Given the description of an element on the screen output the (x, y) to click on. 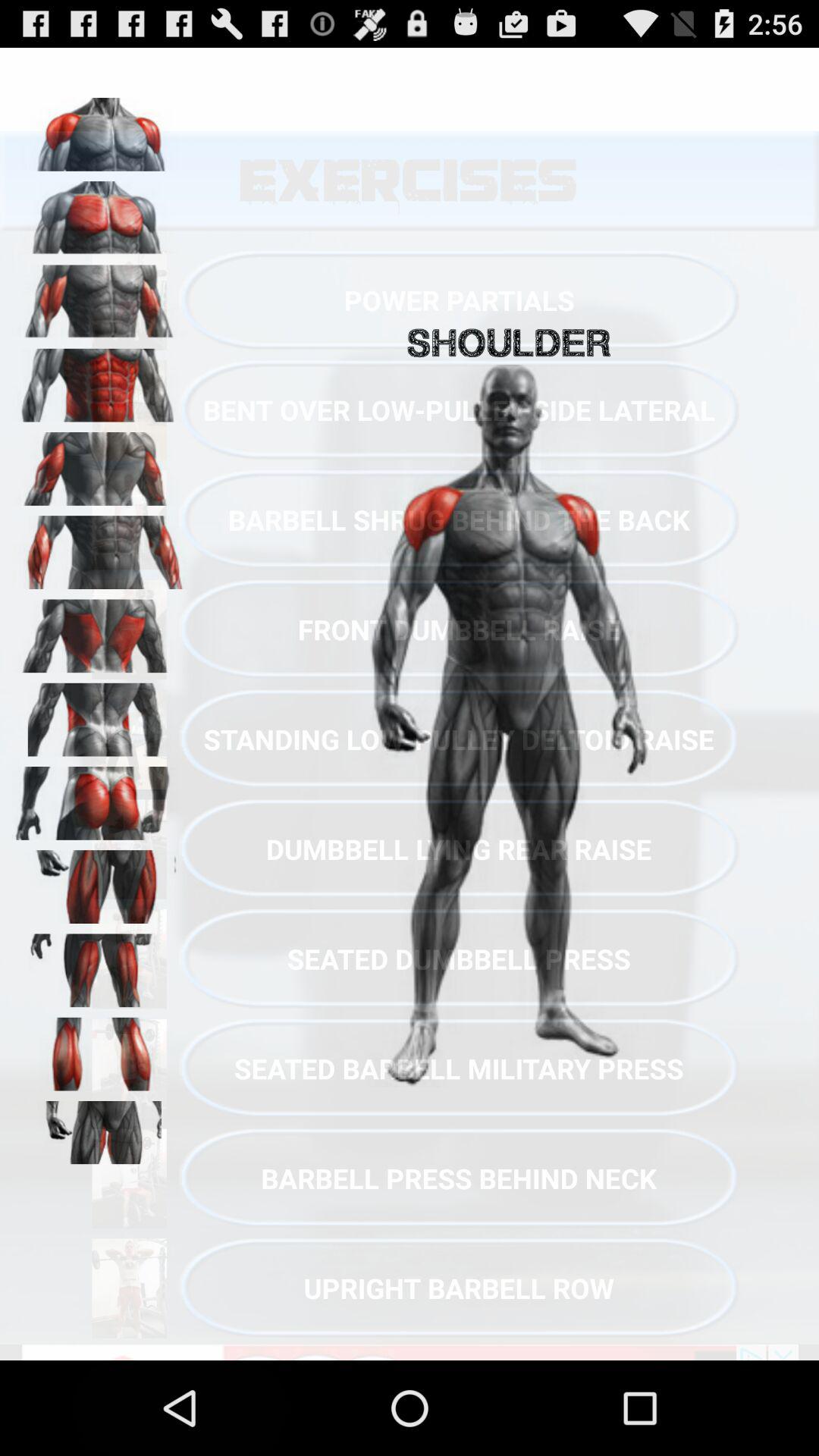
target obliques (99, 714)
